Given the description of an element on the screen output the (x, y) to click on. 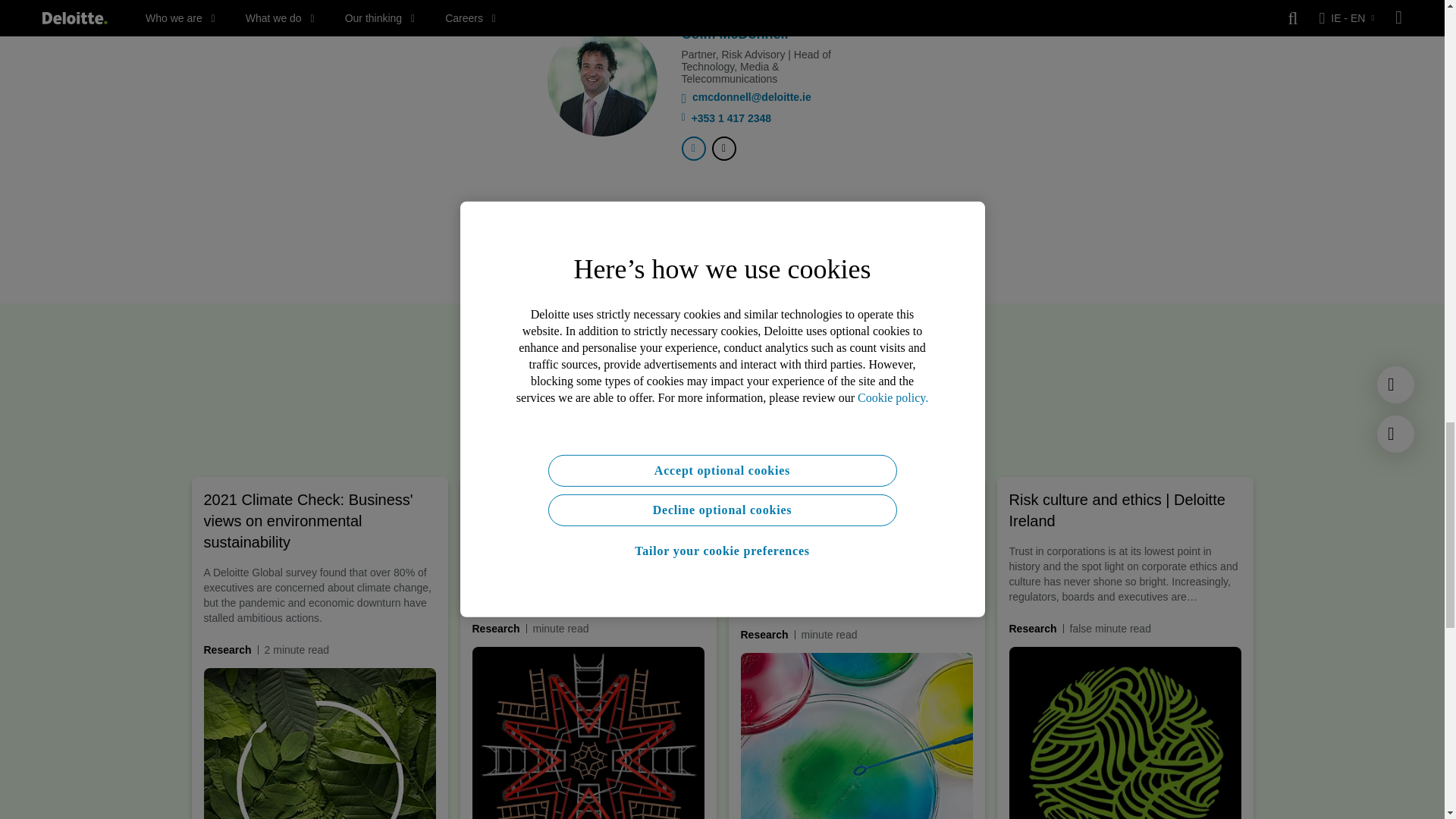
Click here to connect via linkedin (692, 148)
Click here to connect via X (723, 148)
